Given the description of an element on the screen output the (x, y) to click on. 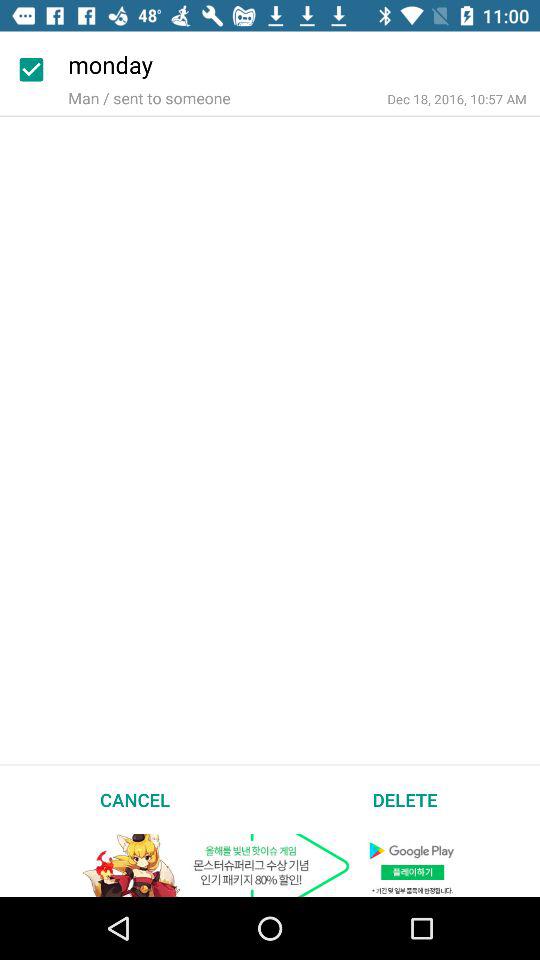
select the monday icon (304, 62)
